Given the description of an element on the screen output the (x, y) to click on. 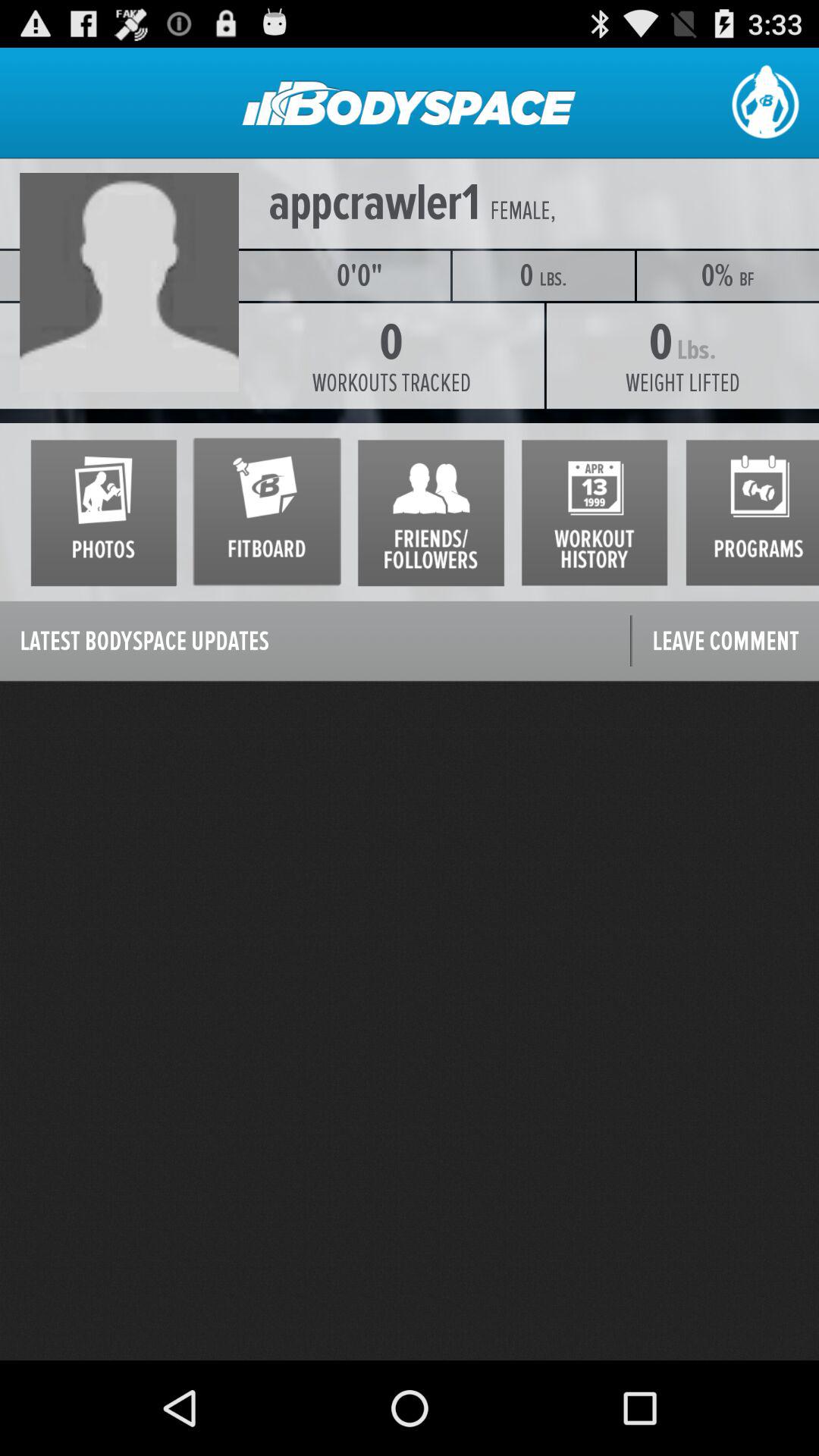
flip until the , item (684, 210)
